Given the description of an element on the screen output the (x, y) to click on. 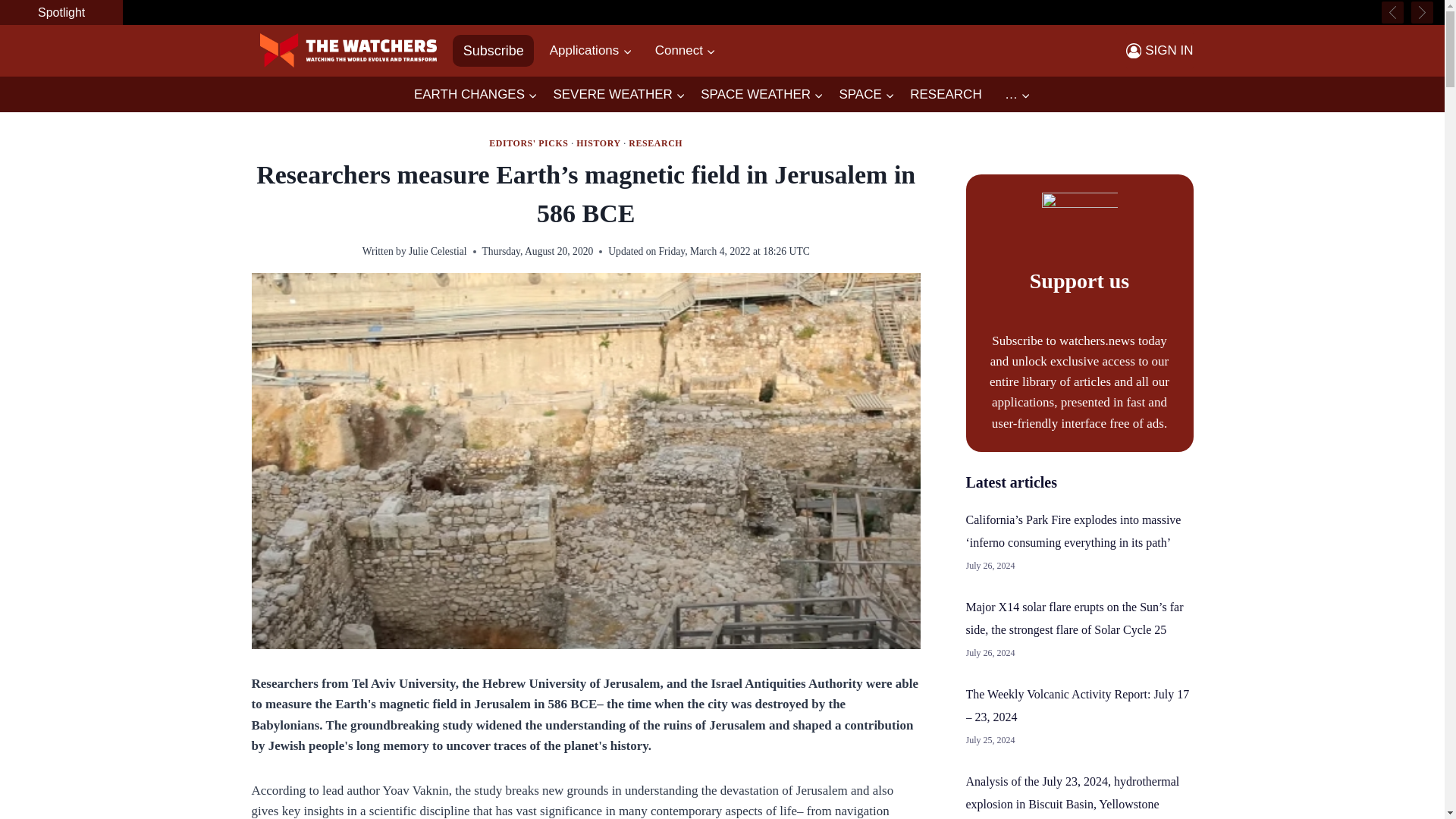
SIGN IN (1159, 50)
Applications (590, 50)
EARTH CHANGES (475, 94)
Subscribe (493, 50)
Connect (685, 50)
